Given the description of an element on the screen output the (x, y) to click on. 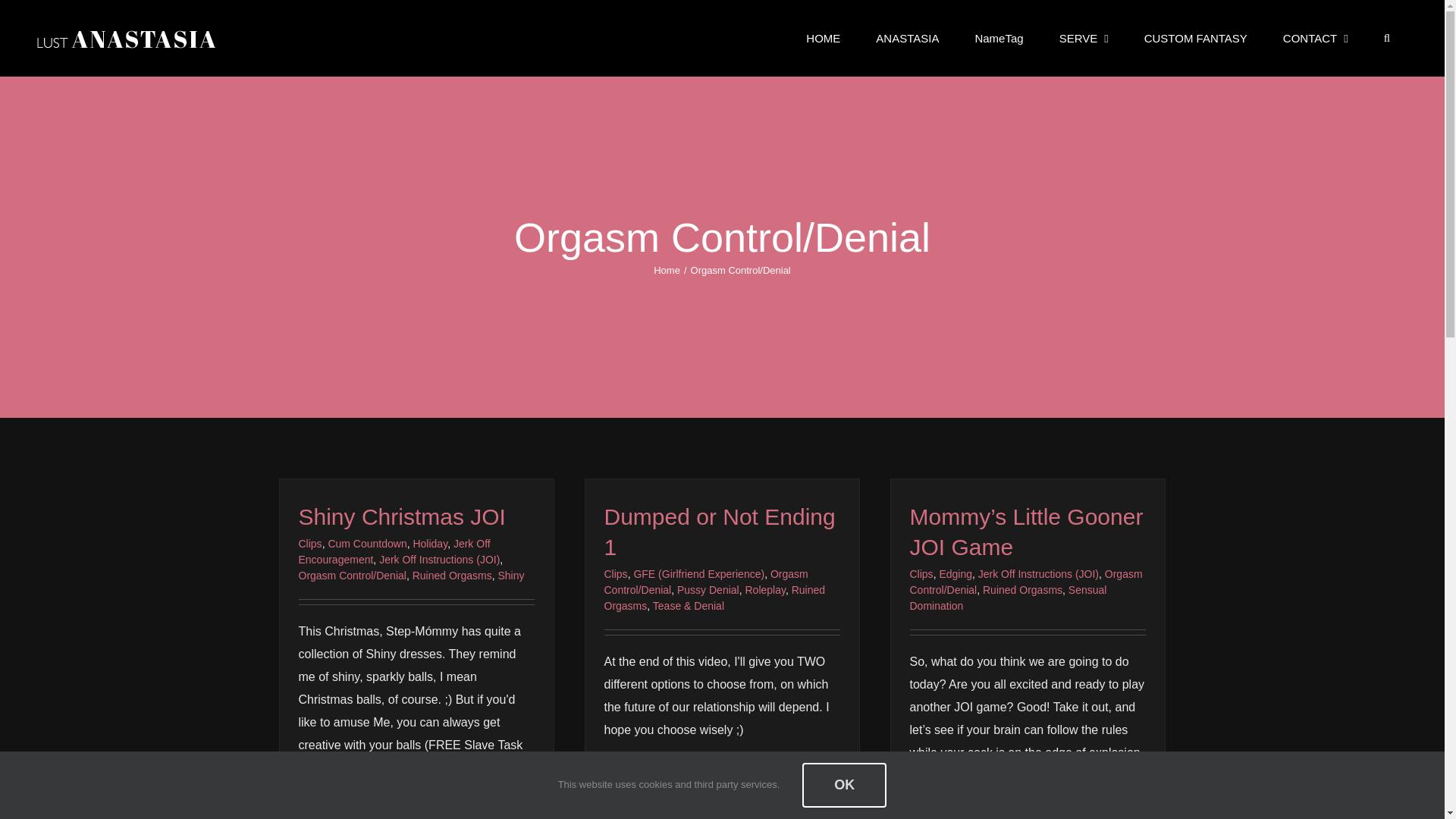
Shiny (510, 575)
HOME (824, 38)
CUSTOM FANTASY (1195, 38)
Ruined Orgasms (452, 575)
Cum Countdown (366, 543)
SERVE (1083, 38)
NameTag (998, 38)
Holiday (429, 543)
CONTACT (1315, 38)
ANASTASIA (907, 38)
Read More (324, 808)
Clips (309, 543)
Home (666, 270)
Shiny Christmas JOI (401, 516)
Jerk Off Encouragement (394, 551)
